Given the description of an element on the screen output the (x, y) to click on. 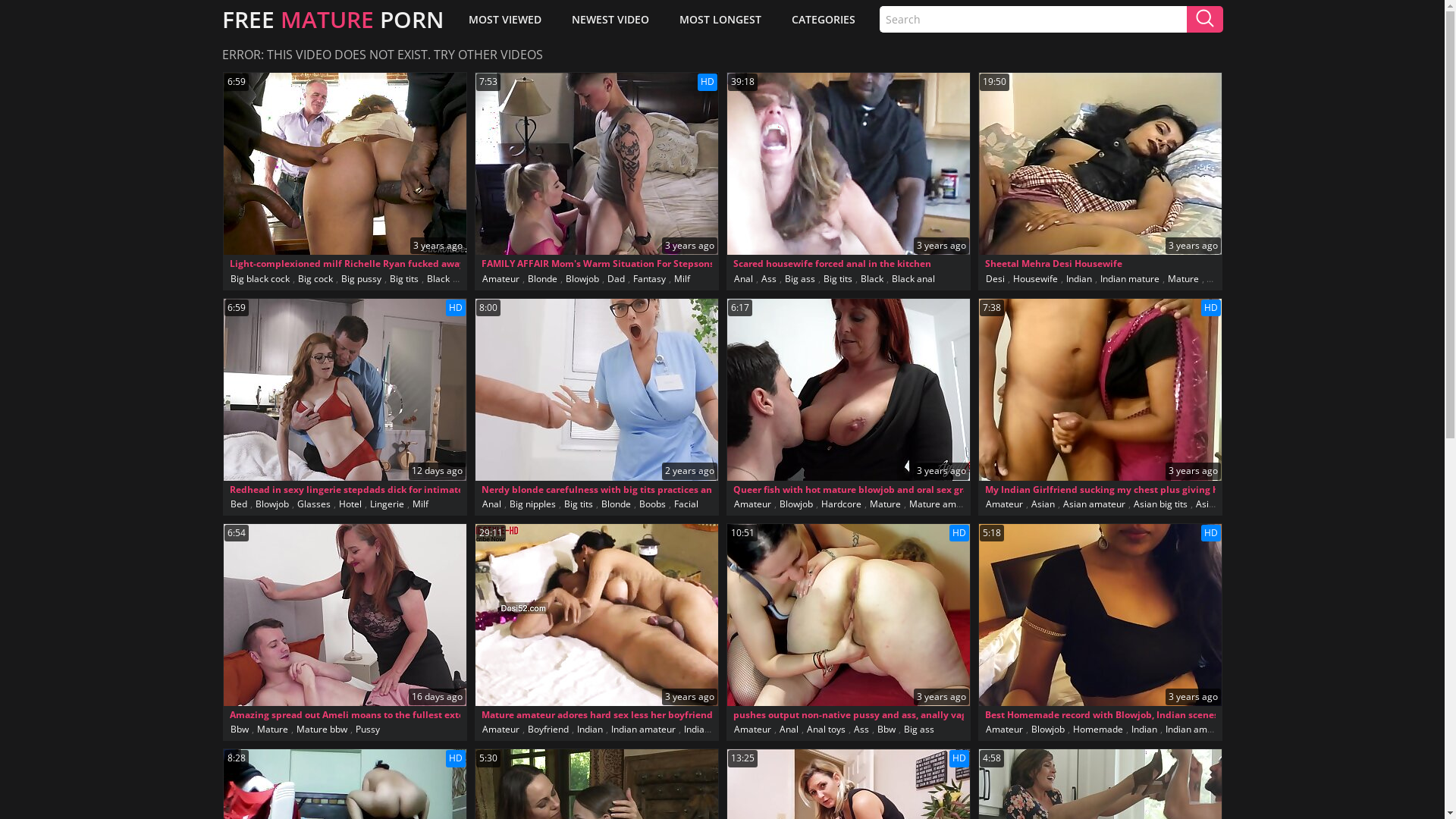
Amateur Element type: text (1003, 503)
6:17
3 years ago Element type: text (847, 389)
6:54
16 days ago Element type: text (343, 615)
Hardcore Element type: text (841, 503)
Amateur Element type: text (499, 728)
Desi Element type: text (994, 278)
Mature Element type: text (1182, 278)
Big tits Element type: text (837, 278)
Black anal Element type: text (912, 278)
Amateur Element type: text (751, 503)
Solo Element type: text (1215, 278)
Big ass Element type: text (918, 728)
Anal Element type: text (742, 278)
Indian amateur Element type: text (642, 728)
Indian amateur Element type: text (1197, 728)
MOST LONGEST Element type: text (720, 18)
39:18
3 years ago Element type: text (847, 163)
7:38
HD
3 years ago Element type: text (1099, 389)
Milf Element type: text (419, 503)
Mature amateur Element type: text (943, 503)
Milf Element type: text (681, 278)
Anal Element type: text (490, 503)
5:18
HD
3 years ago Element type: text (1099, 615)
FREE MATURE PORN Element type: text (332, 18)
Dad Element type: text (615, 278)
Glasses Element type: text (312, 503)
Fantasy Element type: text (649, 278)
Big ass Element type: text (799, 278)
Mature bbw Element type: text (321, 728)
Anal Element type: text (788, 728)
Bbw Element type: text (238, 728)
MOST VIEWED Element type: text (504, 18)
Mature Element type: text (272, 728)
Bbw Element type: text (886, 728)
Asian mature Element type: text (1224, 503)
Mature Element type: text (885, 503)
Big cock Element type: text (315, 278)
Amateur Element type: text (499, 278)
Black Element type: text (871, 278)
Indian mature Element type: text (1129, 278)
Housewife Element type: text (1034, 278)
Hotel Element type: text (350, 503)
CATEGORIES Element type: text (823, 18)
Black Element type: text (438, 278)
Blonde Element type: text (615, 503)
Ass Element type: text (767, 278)
7:53
HD
3 years ago Element type: text (595, 163)
Indian Element type: text (1078, 278)
Asian big tits Element type: text (1160, 503)
10:51
HD
3 years ago Element type: text (847, 615)
Blowjob Element type: text (795, 503)
Indian Element type: text (589, 728)
Black big tits Element type: text (483, 278)
8:00
2 years ago Element type: text (595, 389)
Lingerie Element type: text (386, 503)
Amateur Element type: text (751, 728)
Boyfriend Element type: text (547, 728)
29:11
3 years ago Element type: text (595, 615)
Big nipples Element type: text (531, 503)
Anal toys Element type: text (825, 728)
6:59
3 years ago Element type: text (343, 163)
6:59
HD
12 days ago Element type: text (343, 389)
Pussy Element type: text (367, 728)
Blowjob Element type: text (1046, 728)
Asian amateur Element type: text (1093, 503)
Homemade Element type: text (1097, 728)
19:50
3 years ago Element type: text (1099, 163)
Big tits Element type: text (403, 278)
Indian Element type: text (1143, 728)
Facial Element type: text (686, 503)
Big tits Element type: text (577, 503)
Blowjob Element type: text (271, 503)
Blowjob Element type: text (581, 278)
Ass Element type: text (860, 728)
Bed Element type: text (238, 503)
Amateur Element type: text (1003, 728)
Asian Element type: text (1041, 503)
Indian mature Element type: text (712, 728)
Blonde Element type: text (541, 278)
Big black cock Element type: text (259, 278)
NEWEST VIDEO Element type: text (610, 18)
Boobs Element type: text (652, 503)
Big pussy Element type: text (360, 278)
